Given the description of an element on the screen output the (x, y) to click on. 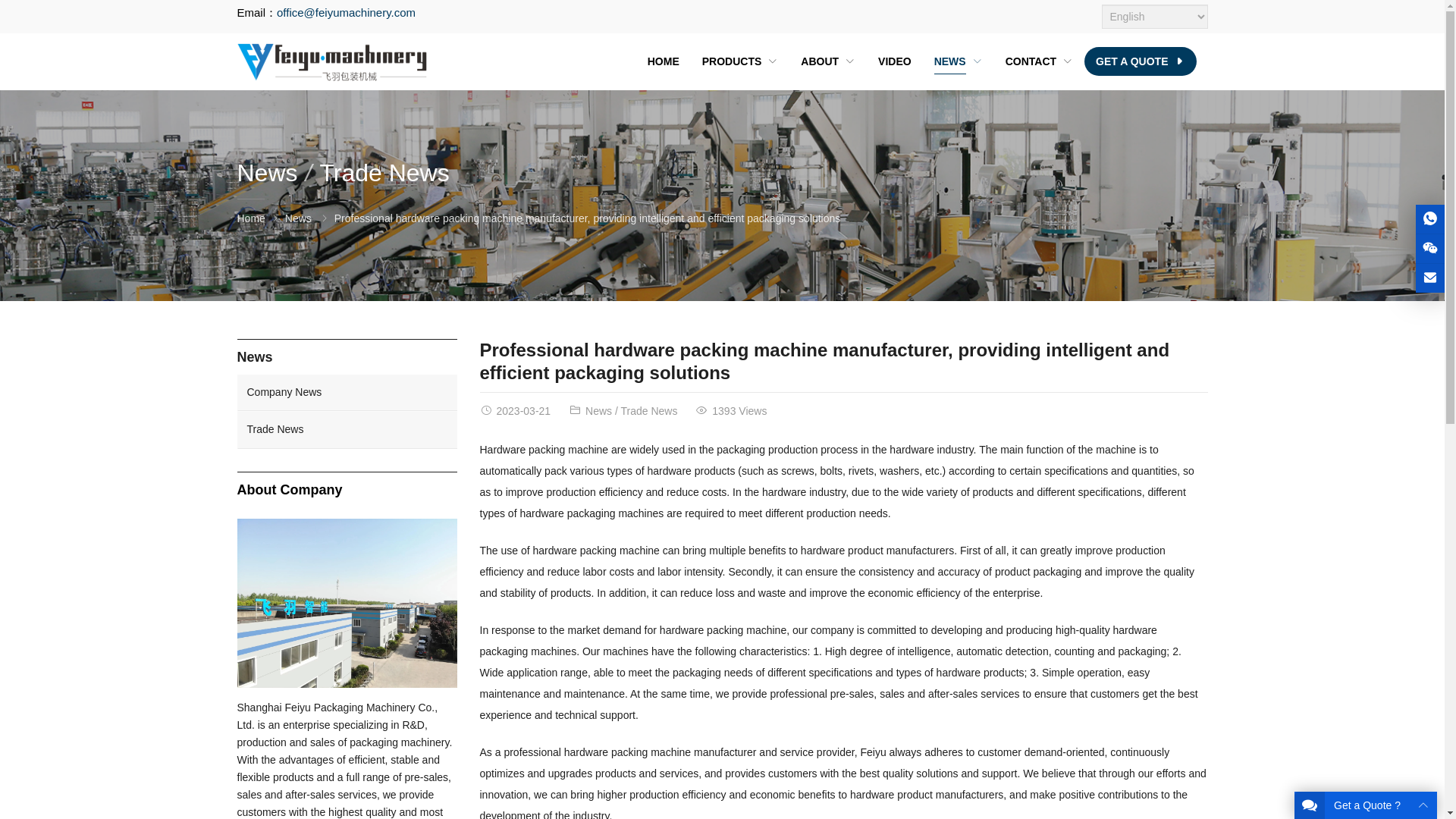
PRODUCTS (740, 61)
Trade News (383, 172)
News (276, 172)
News (298, 218)
GET A QUOTE (1139, 61)
Home (249, 218)
VIDEO (894, 61)
News (598, 410)
ABOUT (827, 61)
Trade News (648, 410)
WhatsApp (1430, 218)
Feiyu Packing Machine (330, 61)
WeChat QR Code (1430, 247)
CONTACT (1039, 61)
NEWS (958, 61)
